Given the description of an element on the screen output the (x, y) to click on. 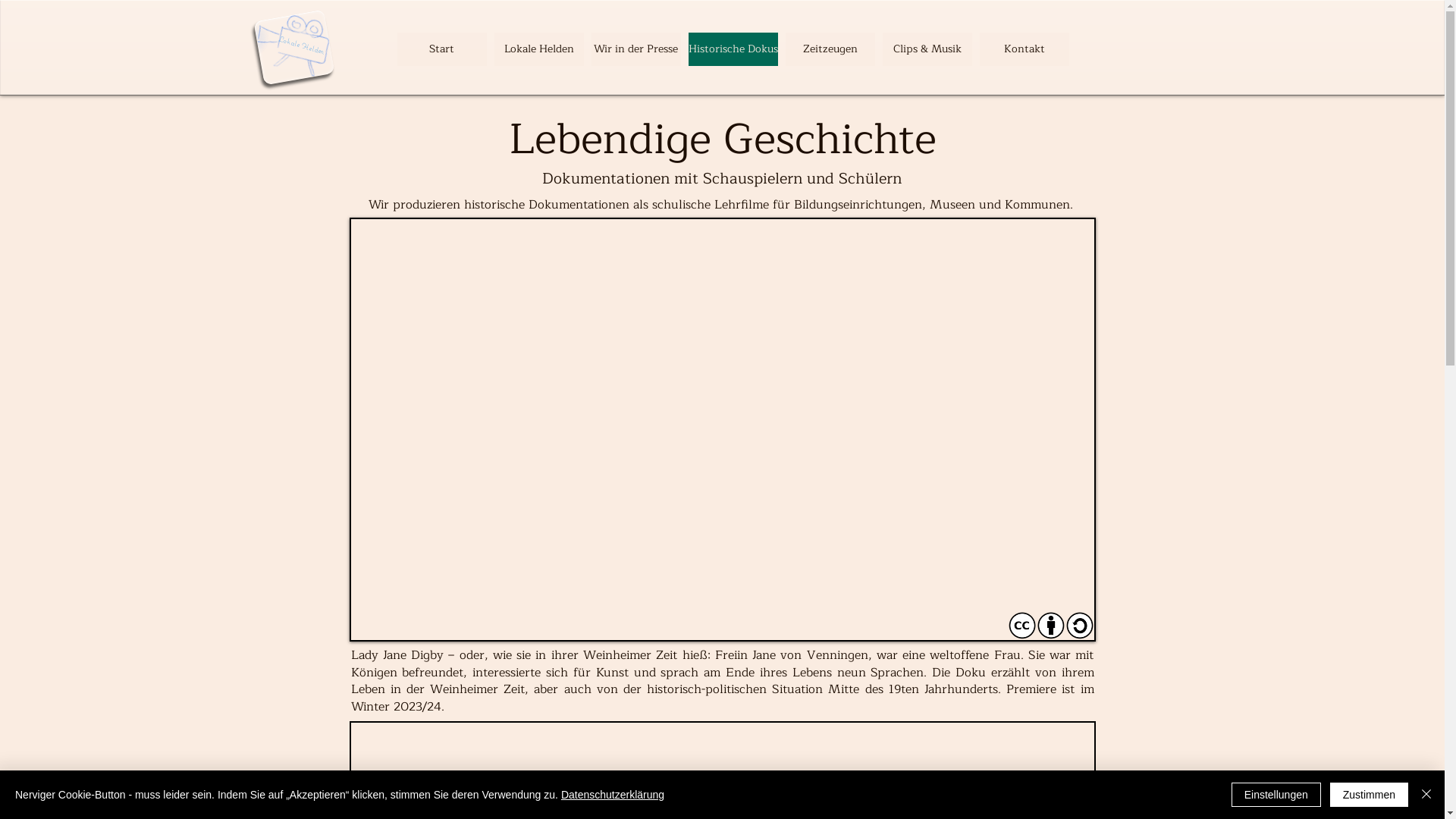
Zustimmen Element type: text (1369, 794)
Einstellungen Element type: text (1276, 794)
Lokale Helden Element type: text (538, 48)
Kontakt Element type: text (1024, 48)
Zeitzeugen Element type: text (830, 48)
Lokale Helden Element type: text (301, 38)
Lokale Helden Dokus Element type: hover (288, 41)
Historische Dokus Element type: text (733, 48)
Start Element type: text (441, 48)
Wir in der Presse Element type: text (635, 48)
Clips & Musik Element type: text (927, 48)
